Given the description of an element on the screen output the (x, y) to click on. 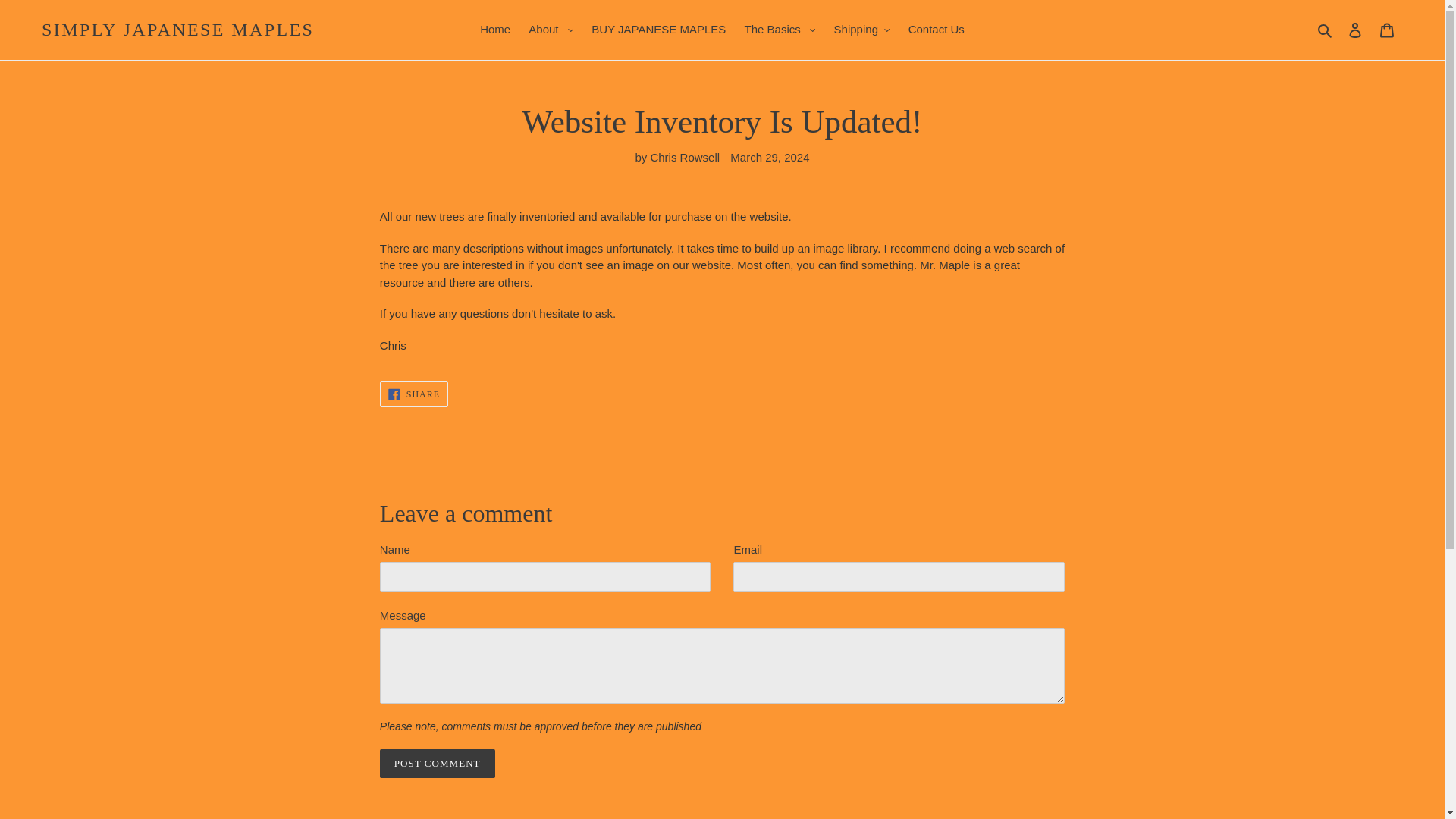
Contact Us (936, 29)
About (550, 29)
Home (494, 29)
BUY JAPANESE MAPLES (658, 29)
Cart (1387, 29)
Shipping (862, 29)
Post comment (437, 763)
The Basics (780, 29)
Search (1326, 29)
SIMPLY JAPANESE MAPLES (178, 29)
Log in (1355, 29)
